Given the description of an element on the screen output the (x, y) to click on. 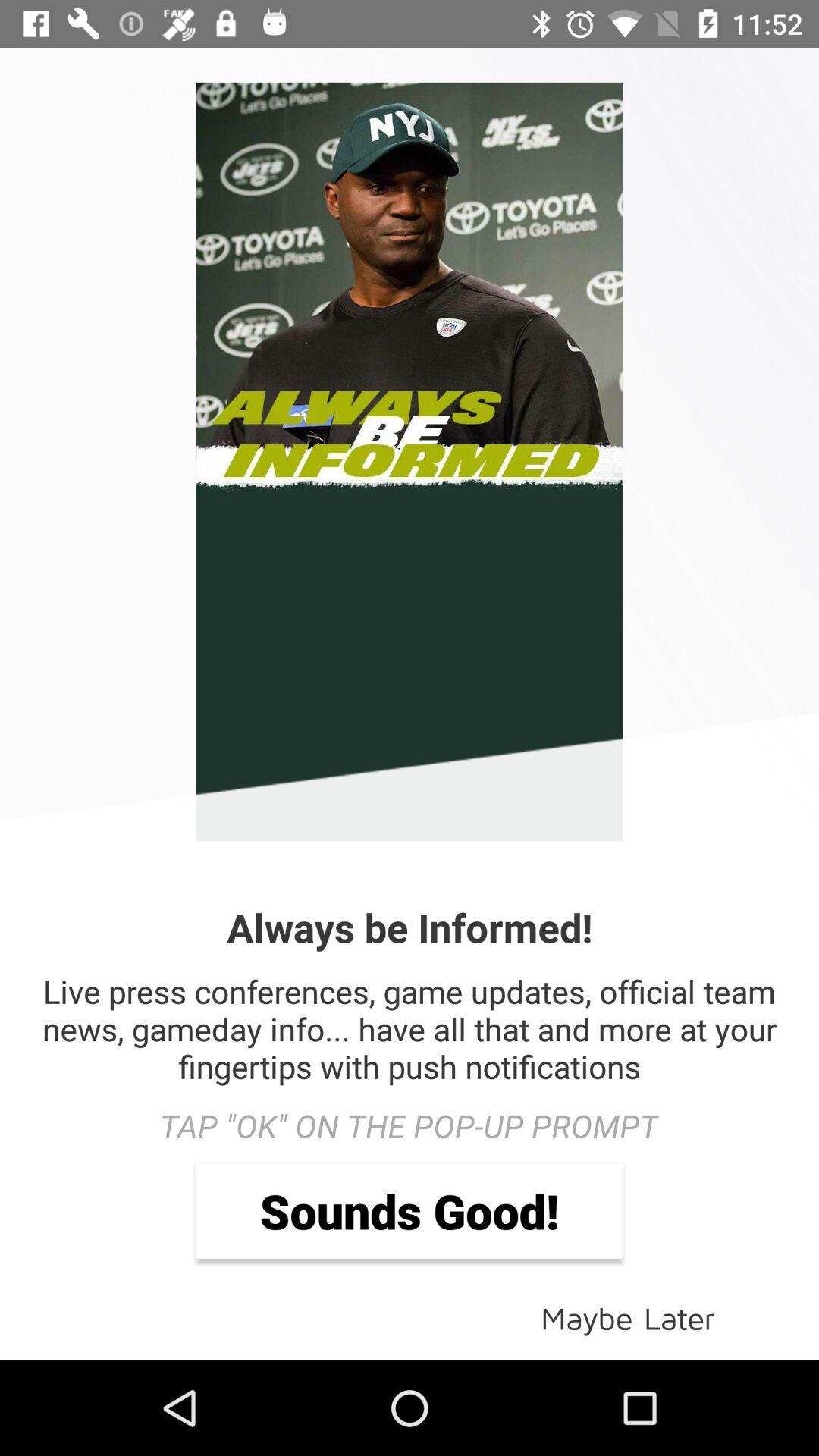
select icon at the bottom right corner (627, 1317)
